Given the description of an element on the screen output the (x, y) to click on. 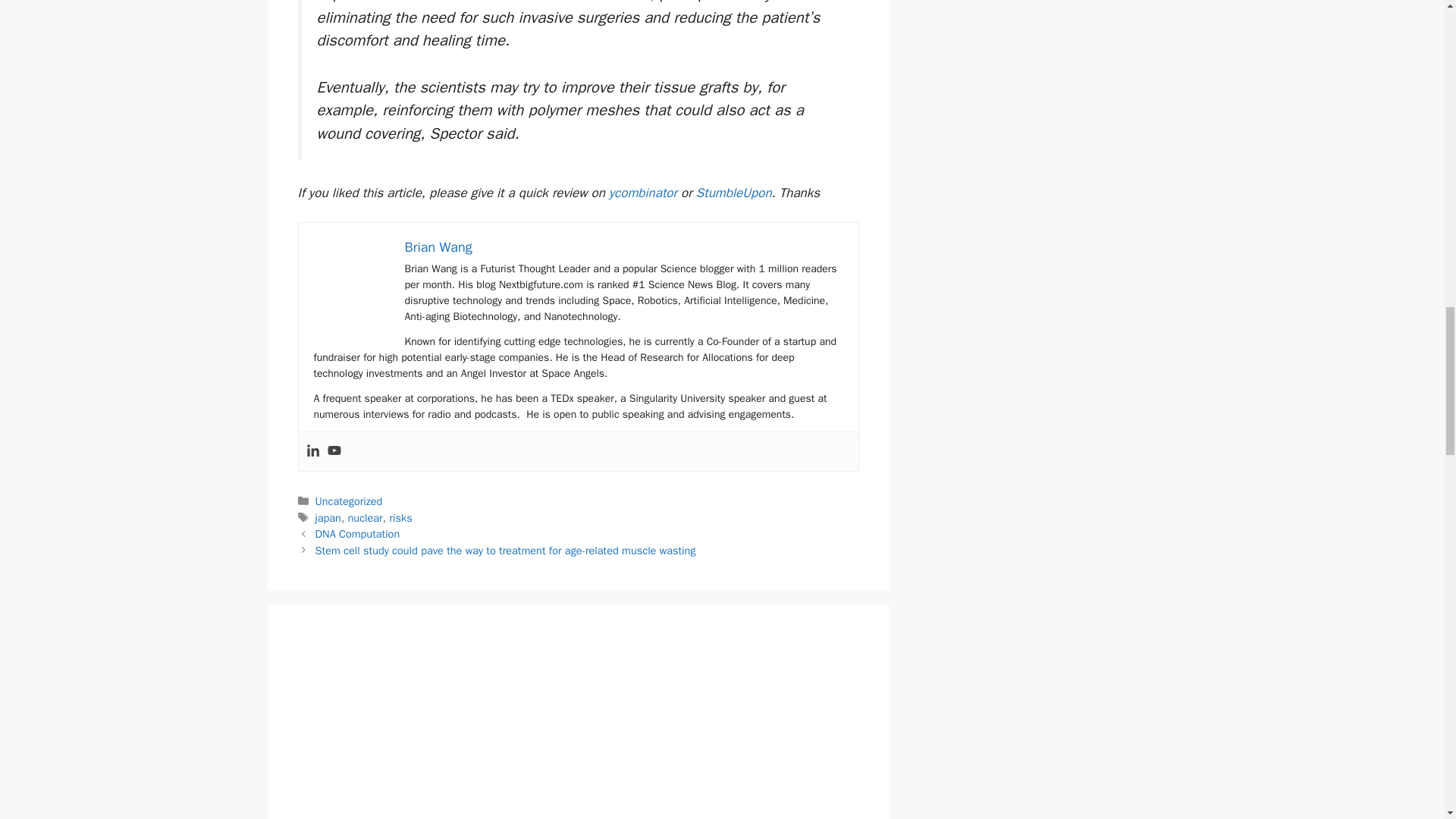
ycombinator (642, 192)
Brian Wang (437, 247)
StumbleUpon (733, 192)
Uncategorized (348, 500)
risks (400, 517)
japan (327, 517)
nuclear (364, 517)
DNA Computation (357, 533)
